Given the description of an element on the screen output the (x, y) to click on. 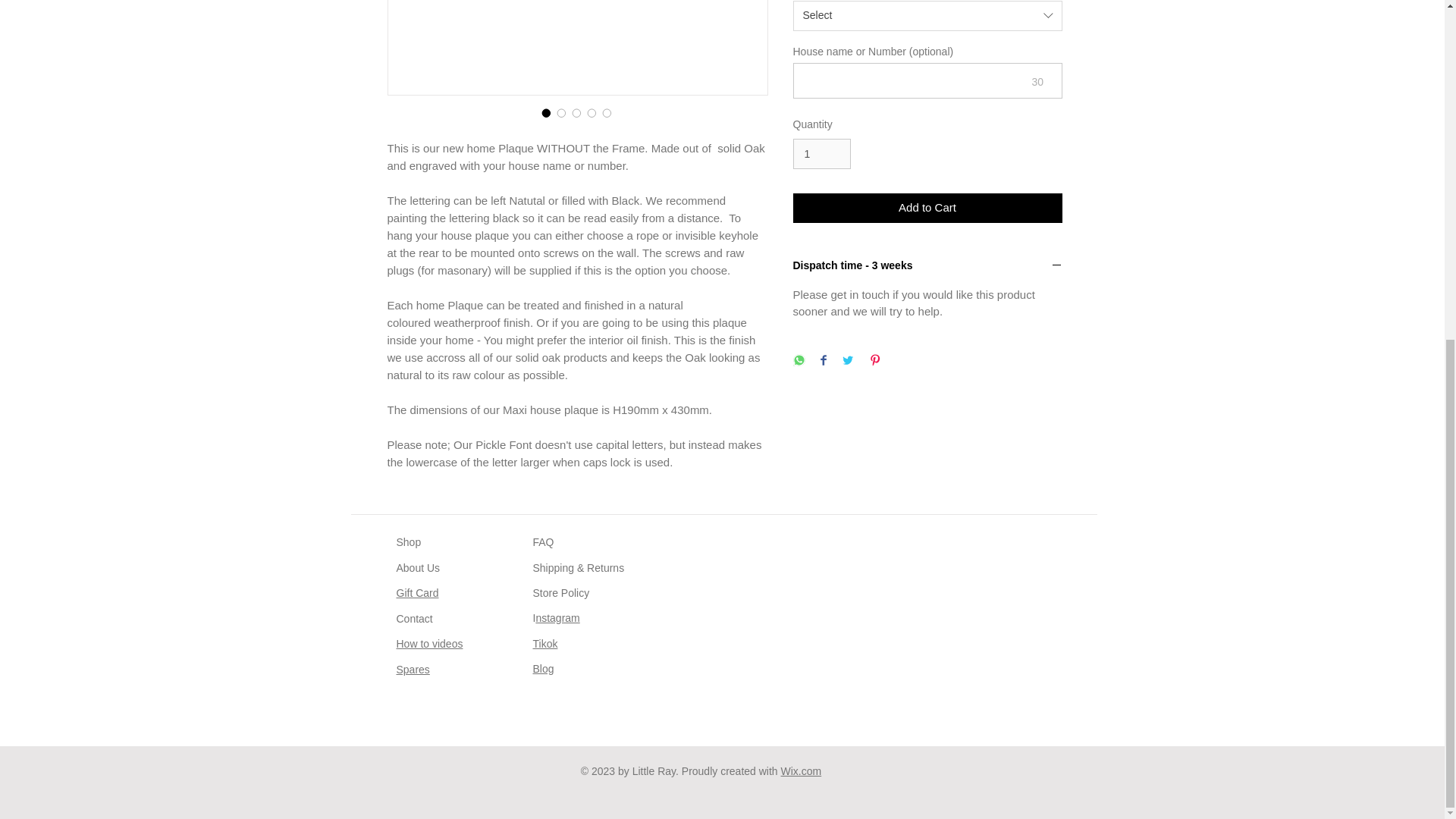
Add to Cart (927, 207)
Dispatch time - 3 weeks (927, 266)
About Us (417, 567)
Shop (408, 541)
1 (821, 153)
Select (927, 15)
